Given the description of an element on the screen output the (x, y) to click on. 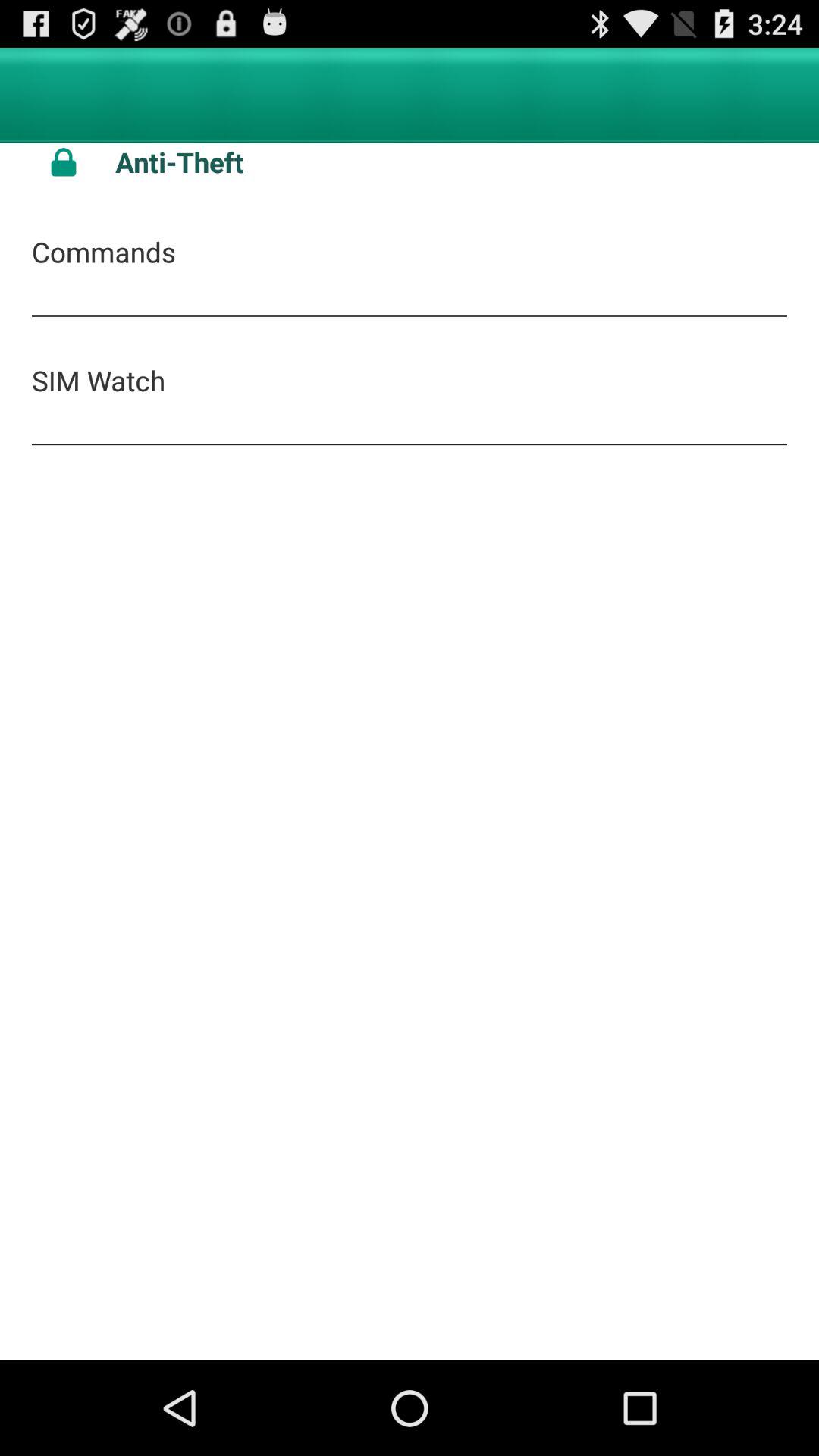
choose item above the sim watch item (103, 251)
